Given the description of an element on the screen output the (x, y) to click on. 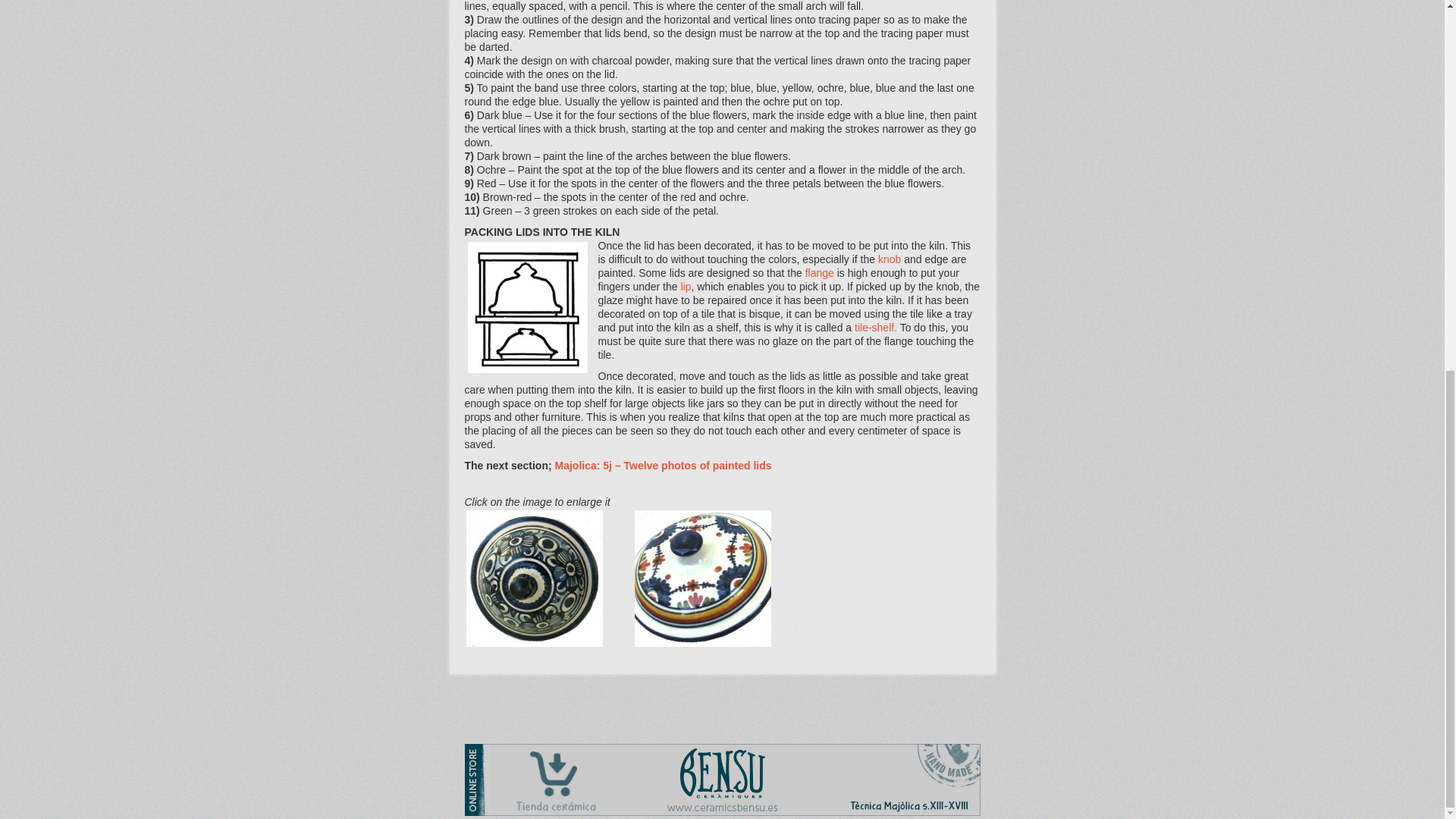
flange (821, 272)
tile-shelf. (875, 327)
Majolica: 5j - Twelve photos of painted lids   (662, 465)
Knob  (890, 259)
TILE - Shelves  (875, 327)
 Flange  (821, 272)
knob (890, 259)
